Given the description of an element on the screen output the (x, y) to click on. 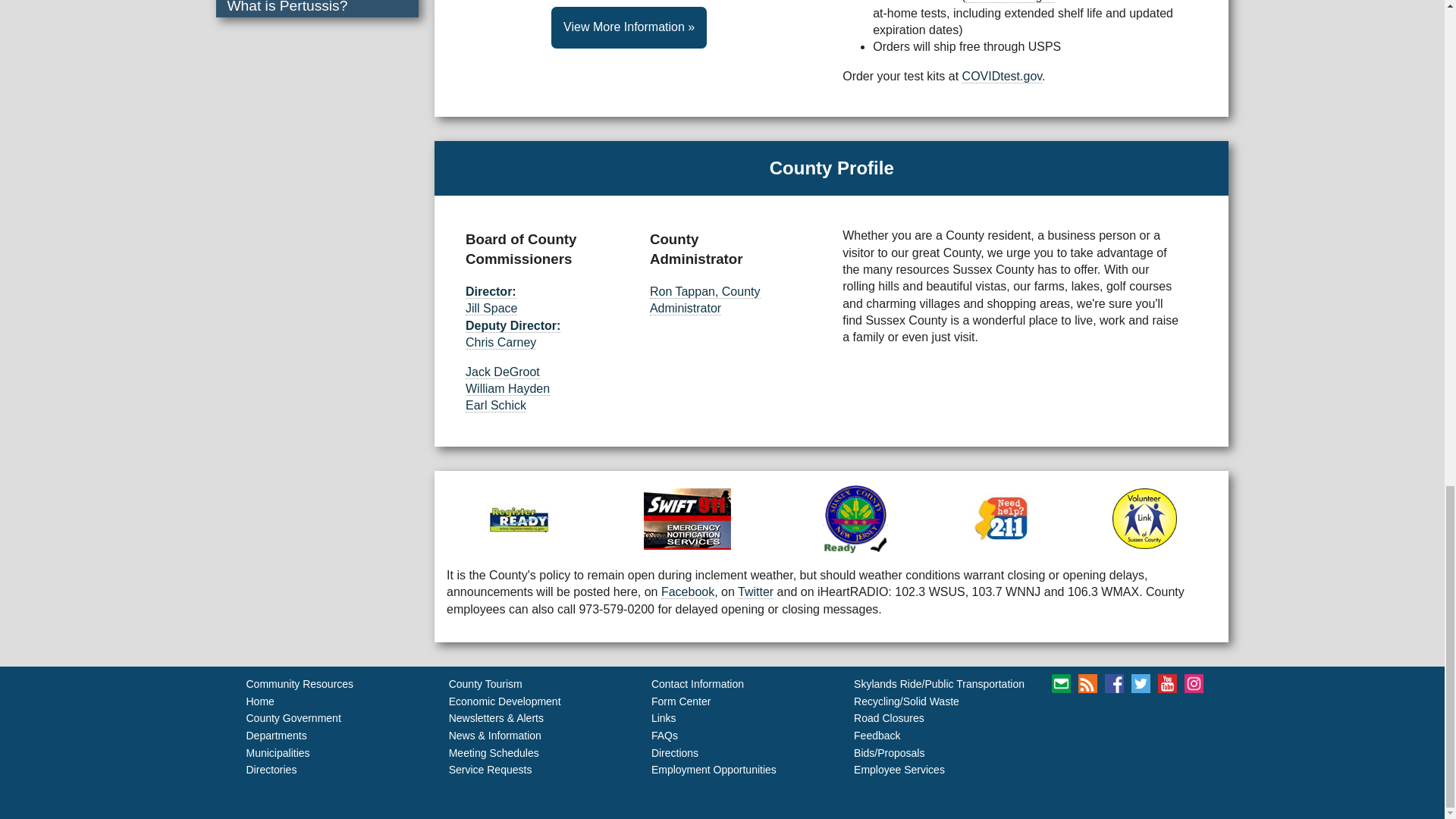
Follow us on Twitter (1140, 683)
Visit our RSS feed (1087, 683)
Visit our Instagram page (1194, 683)
Visit our YouTube channel (1166, 683)
Sign Up for emails from Sussex County (1060, 683)
Visit our Facebook page (1114, 683)
Register for Community Alerts (686, 518)
Register Ready - NJ Special Needs Registry (518, 519)
